Given the description of an element on the screen output the (x, y) to click on. 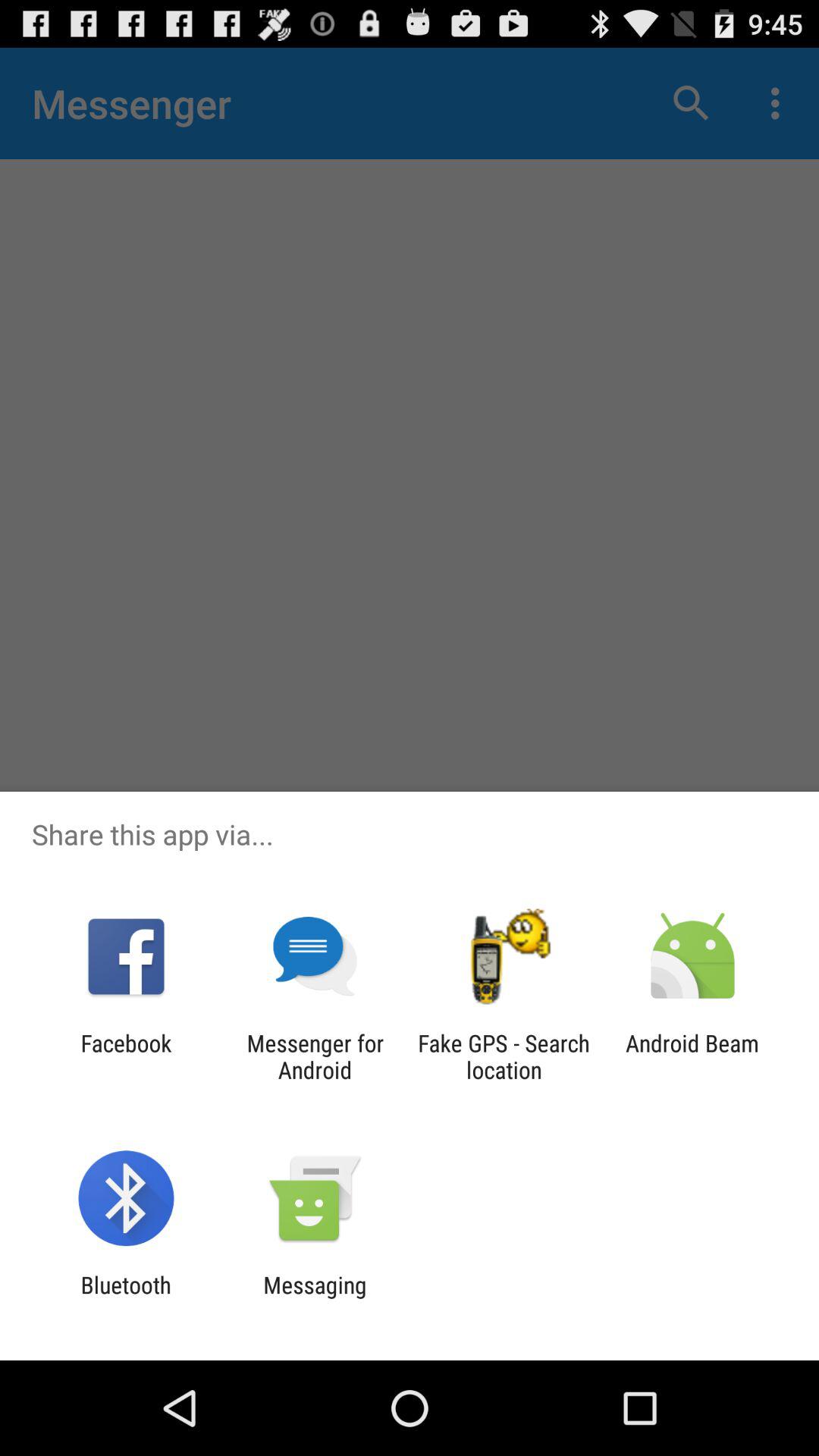
click icon next to facebook (314, 1056)
